Given the description of an element on the screen output the (x, y) to click on. 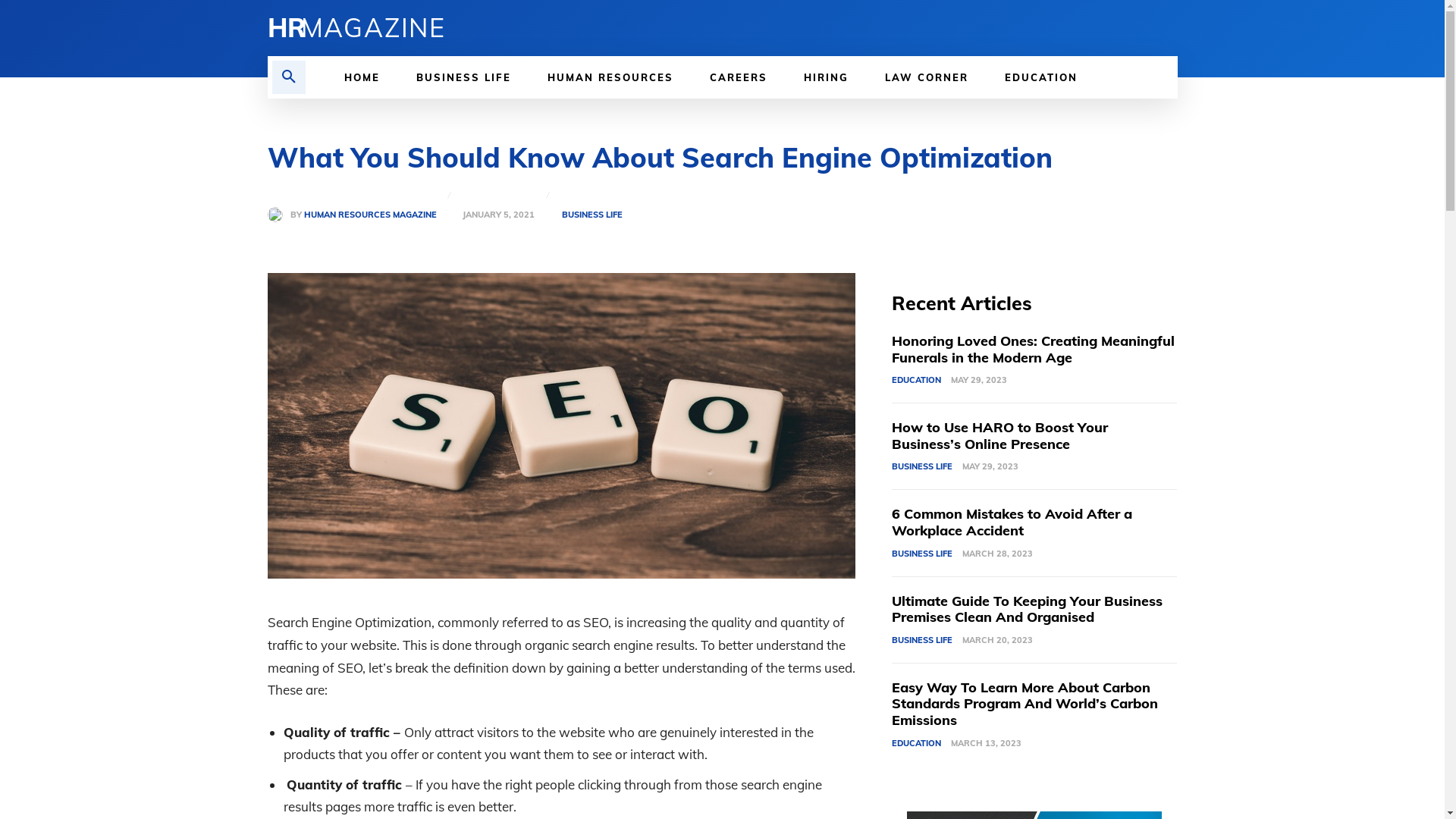
LAW CORNER Element type: text (926, 77)
HUMAN RESOURCES MAGAZINE Element type: text (369, 214)
CAREERS Element type: text (738, 77)
HOME Element type: text (362, 77)
HR
MAGAZINE Element type: text (484, 27)
EDUCATION Element type: text (916, 380)
HUMAN RESOURCES Element type: text (610, 77)
BUSINESS LIFE Element type: text (921, 640)
HIRING Element type: text (825, 77)
6 Common Mistakes to Avoid After a Workplace Accident Element type: text (1011, 522)
BUSINESS LIFE Element type: text (921, 466)
EDUCATION Element type: text (916, 743)
BUSINESS LIFE Element type: text (921, 554)
BUSINESS LIFE Element type: text (463, 77)
EDUCATION Element type: text (1040, 77)
BUSINESS LIFE Element type: text (591, 214)
